Given the description of an element on the screen output the (x, y) to click on. 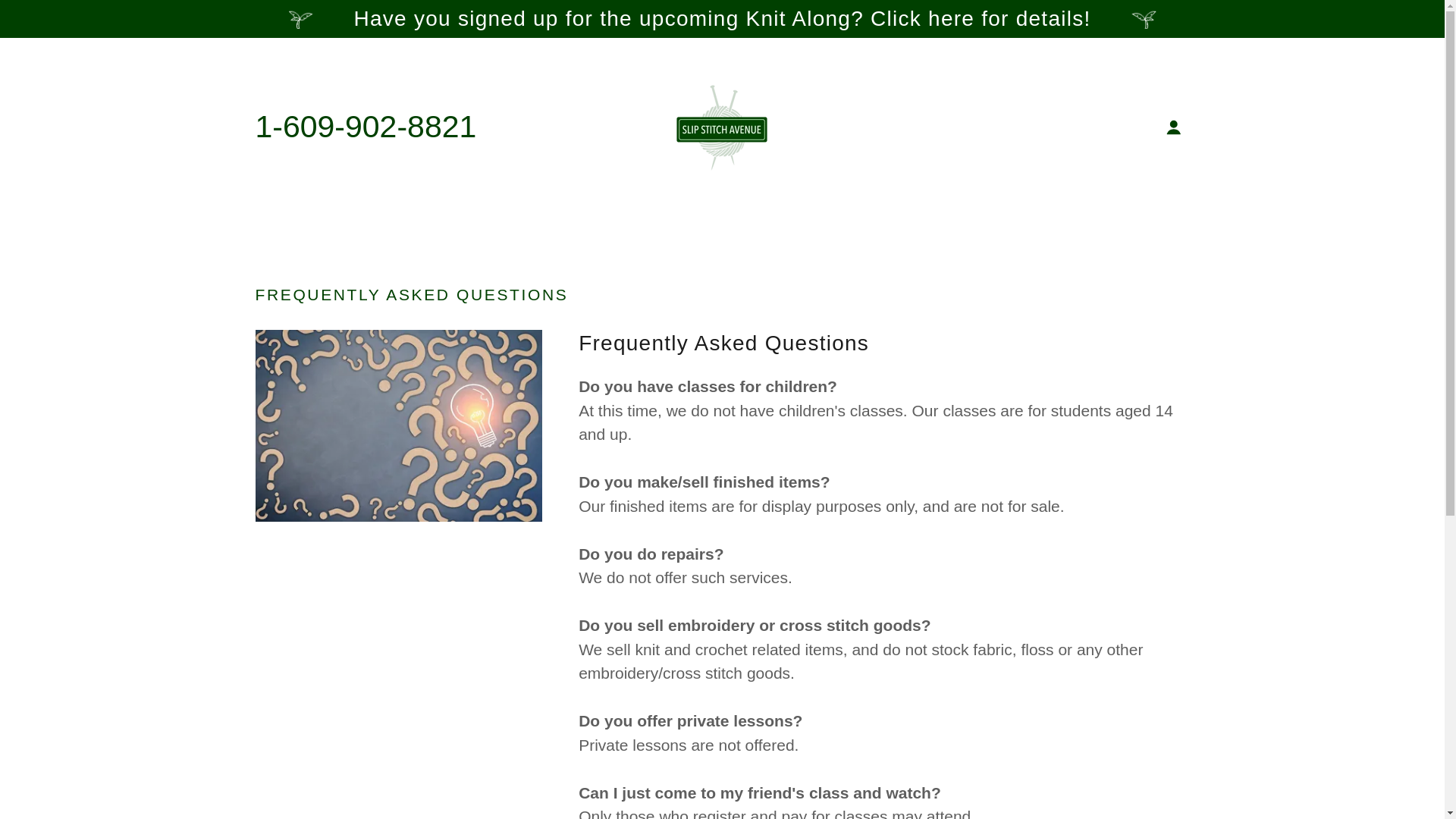
1-609-902-8821 (365, 126)
Slip Stitch Avenue (721, 126)
